Given the description of an element on the screen output the (x, y) to click on. 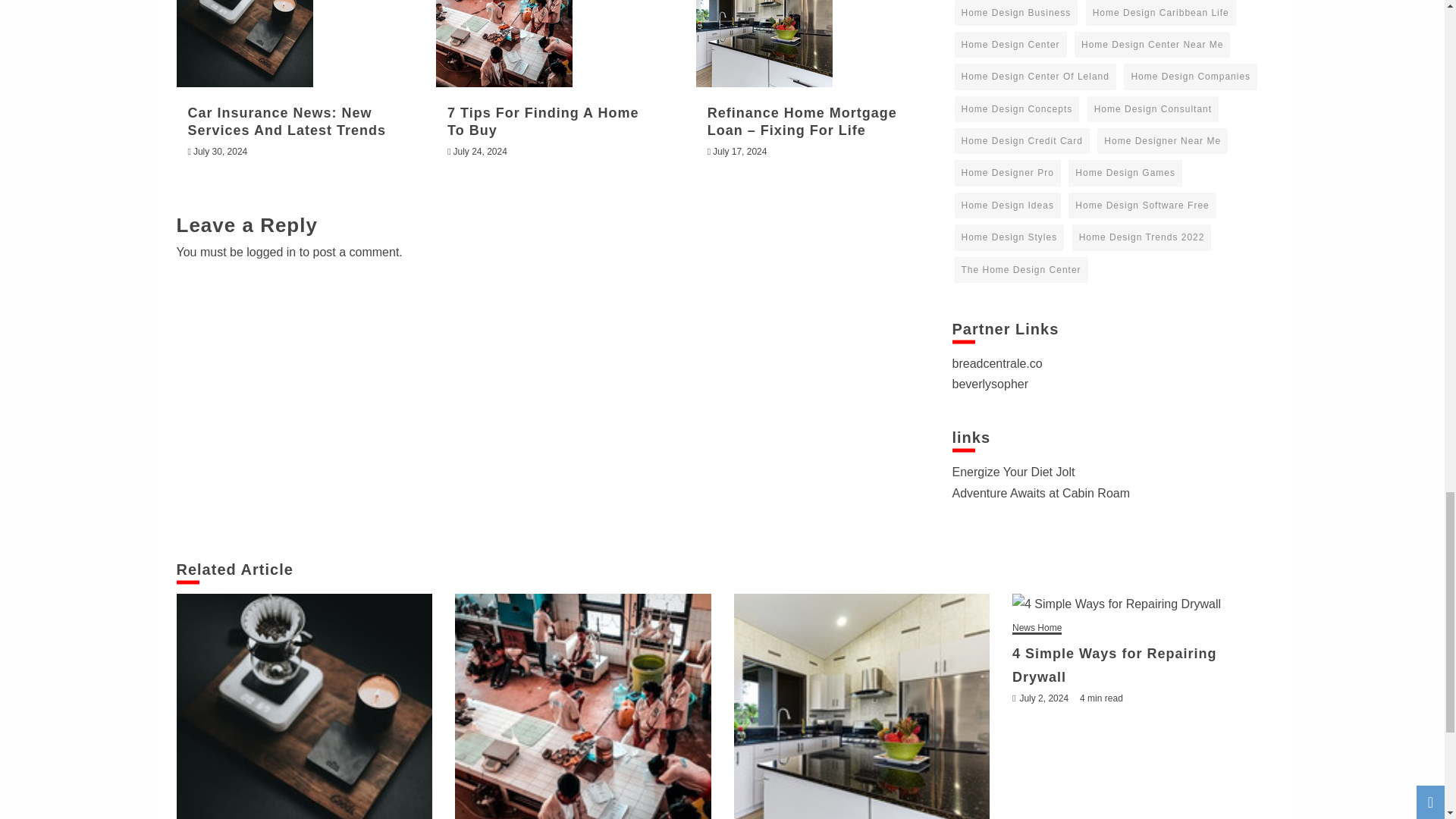
4 Simple Ways for Repairing Drywall (1139, 603)
7 Tips For Finding A Home To Buy (582, 706)
July 17, 2024 (740, 151)
7 Tips For Finding A Home To Buy (503, 43)
July 30, 2024 (220, 151)
Car Insurance News: New Services And Latest Trends (286, 121)
7 Tips For Finding A Home To Buy (542, 121)
Car Insurance News: New Services And Latest Trends (304, 706)
Car Insurance News: New Services And Latest Trends (244, 43)
July 24, 2024 (479, 151)
